Given the description of an element on the screen output the (x, y) to click on. 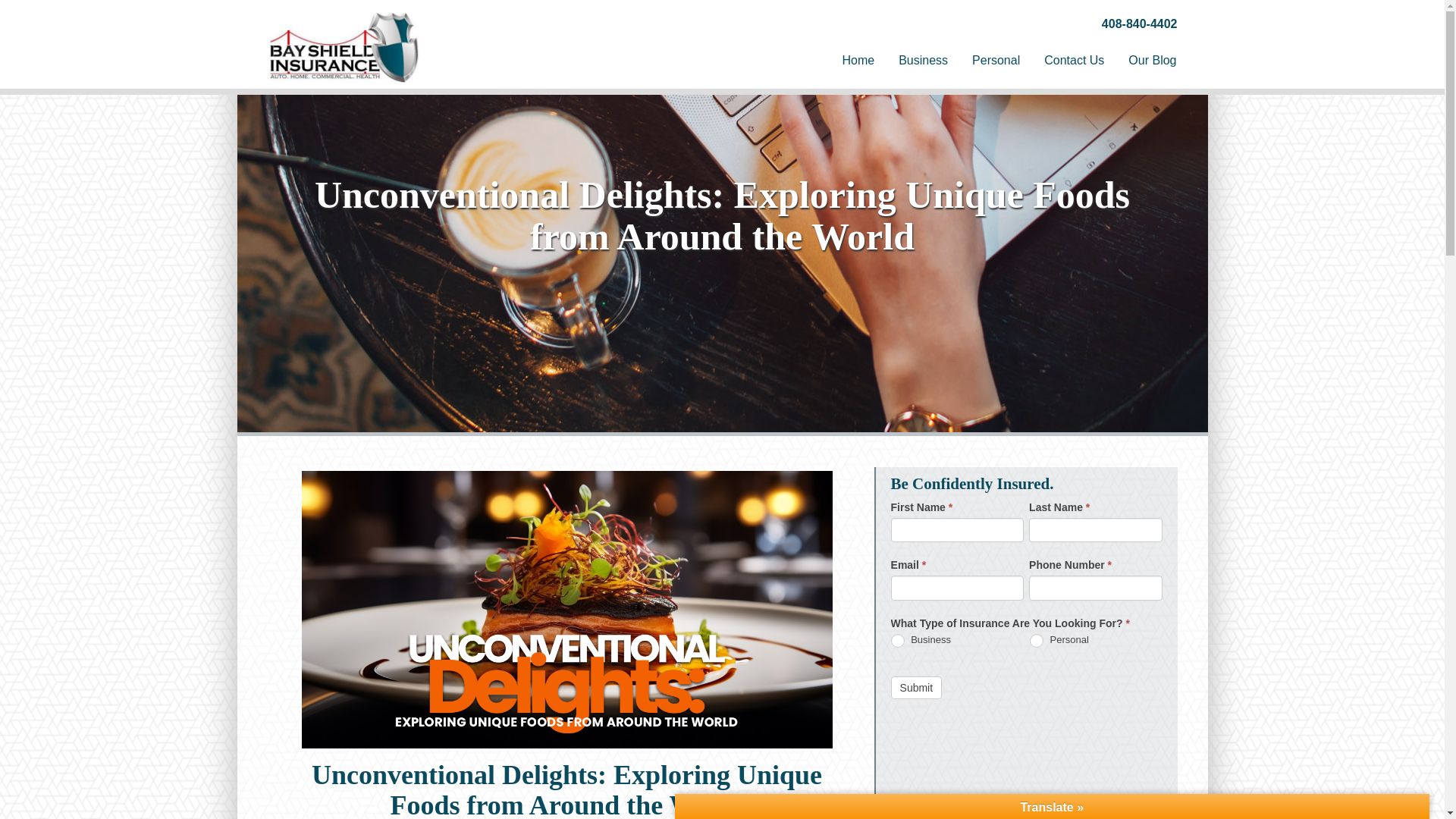
Business (897, 640)
Business (922, 60)
Our Blog (1152, 60)
408-840-4402 (1139, 23)
Submit (916, 687)
Personal (1036, 640)
Home (857, 60)
Contact Us (1074, 60)
Personal (995, 60)
